Given the description of an element on the screen output the (x, y) to click on. 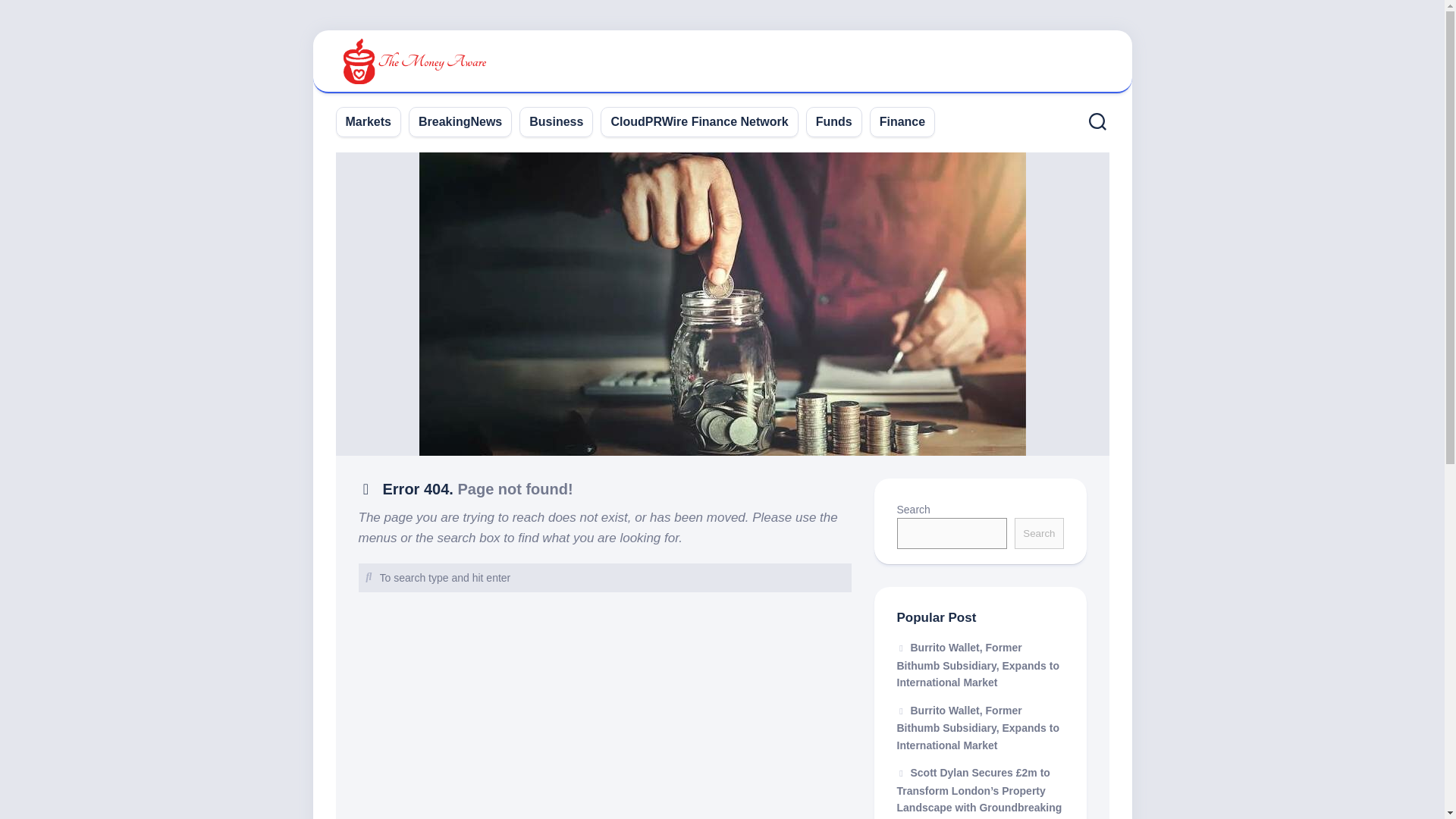
Finance (901, 121)
Funds (833, 121)
CloudPRWire Finance Network (698, 121)
BreakingNews (460, 121)
Business (556, 121)
Markets (368, 121)
To search type and hit enter (604, 577)
Search (1038, 532)
To search type and hit enter (604, 577)
